Given the description of an element on the screen output the (x, y) to click on. 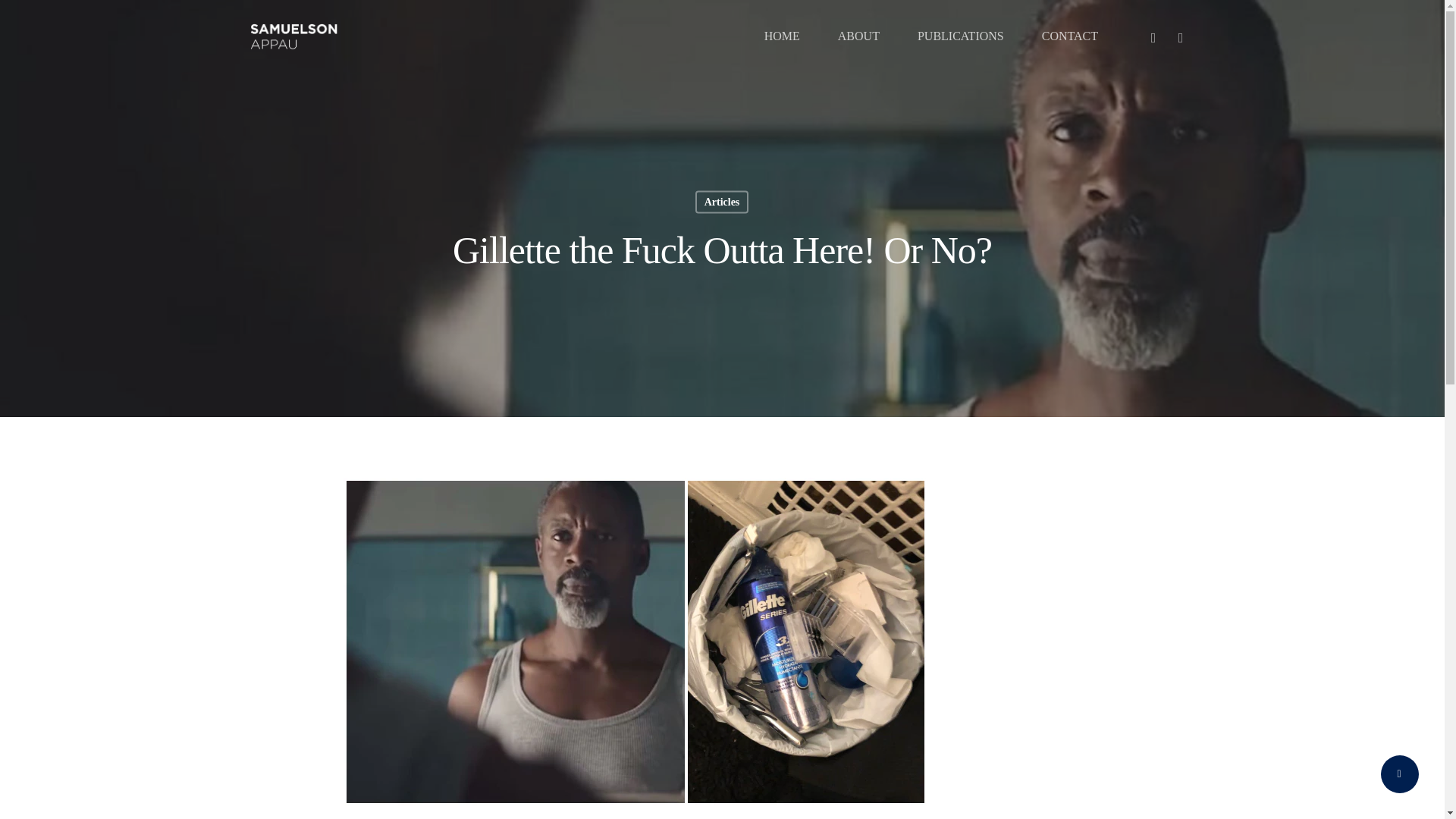
CONTACT (1069, 36)
Articles (722, 201)
HOME (781, 36)
PUBLICATIONS (960, 36)
ABOUT (858, 36)
